Given the description of an element on the screen output the (x, y) to click on. 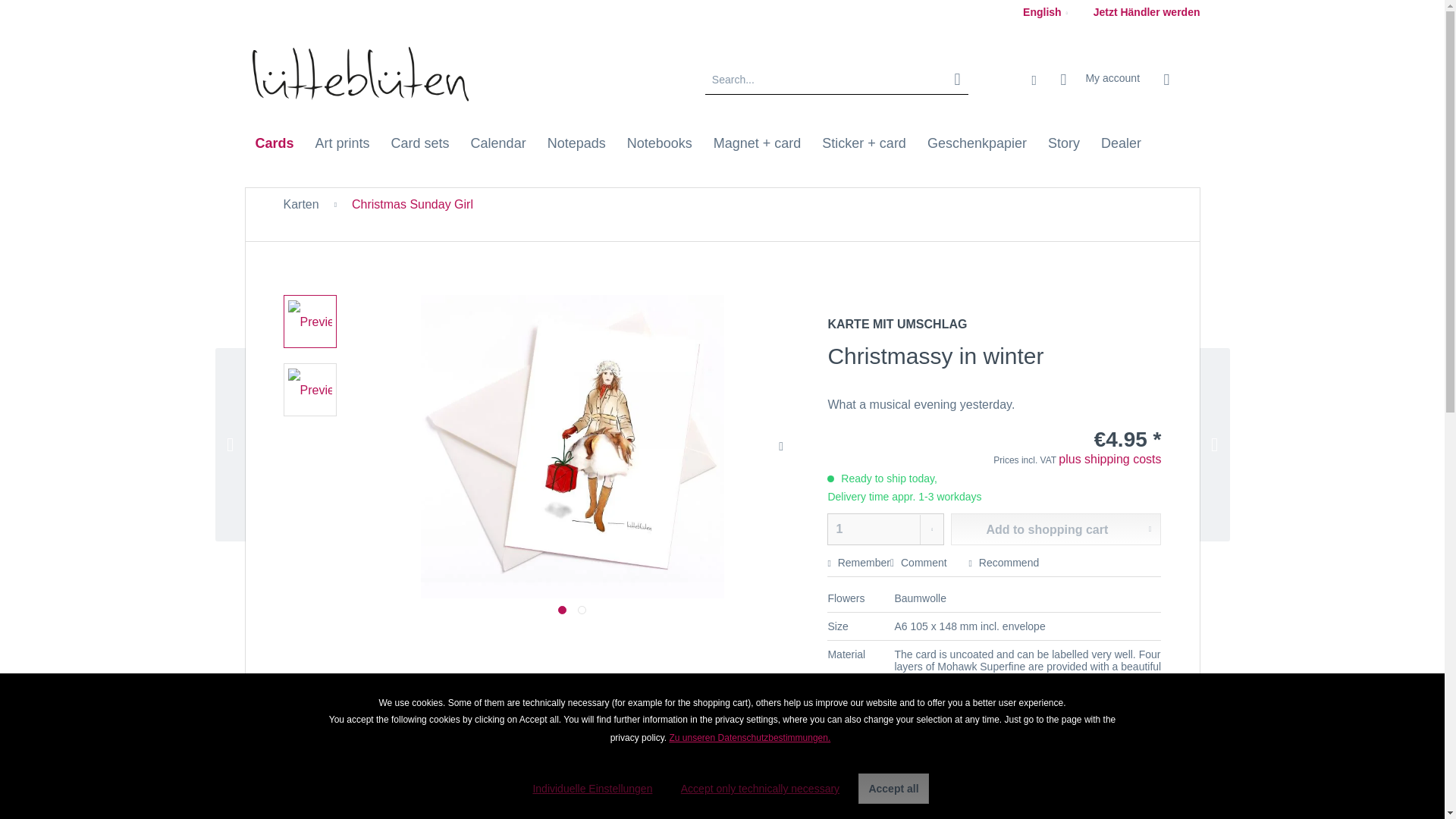
Dealer (1120, 143)
Card sets (420, 143)
Art prints (342, 143)
Cards (274, 143)
Notebooks (659, 143)
Shopping cart (1176, 79)
Calendar (498, 143)
Calendar (498, 143)
Notepads (576, 143)
Geschenkpapier (976, 143)
Art prints (342, 143)
My account (1099, 79)
Cards (274, 143)
Story (1063, 143)
Card sets (420, 143)
